Given the description of an element on the screen output the (x, y) to click on. 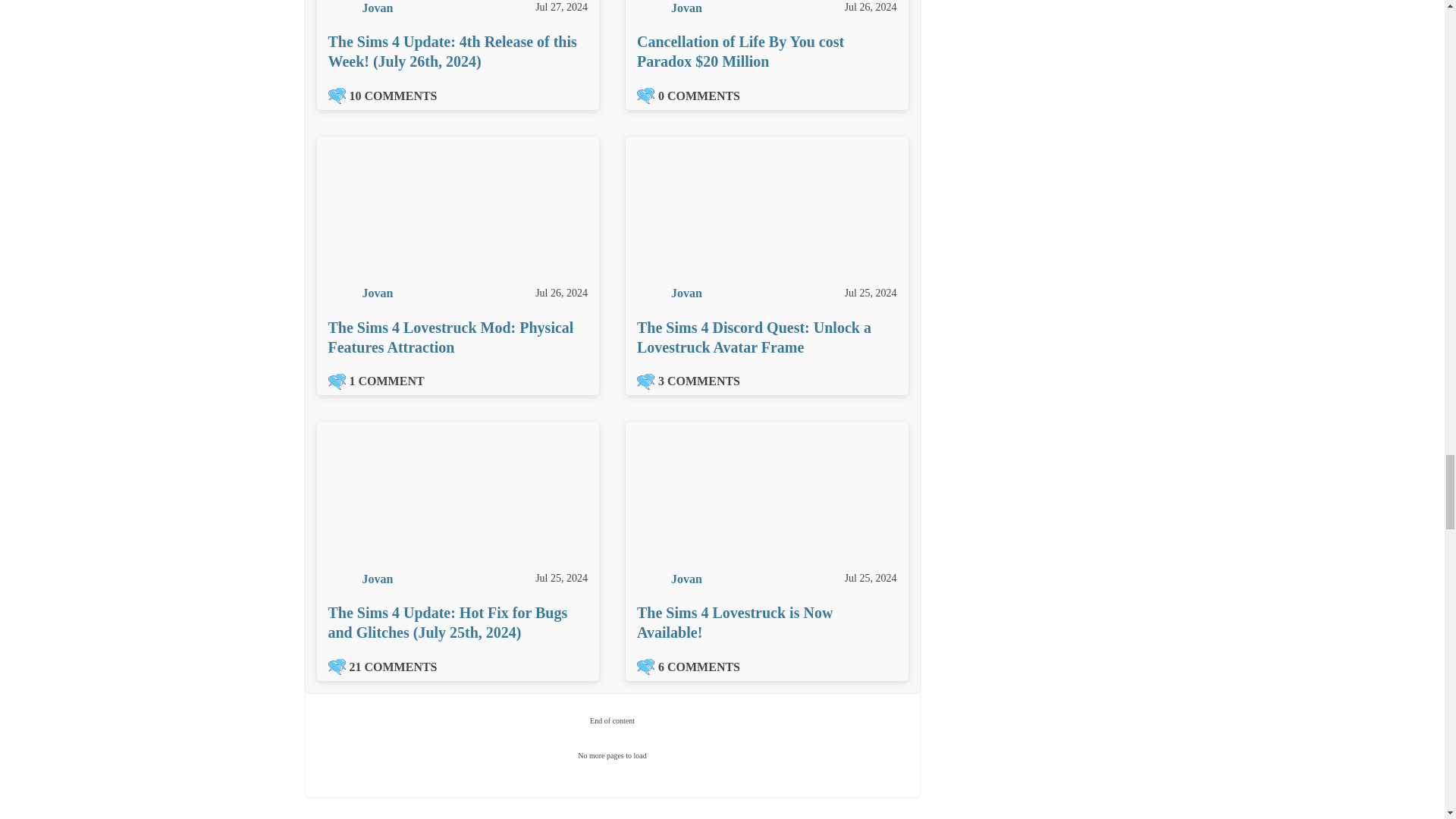
No more pages to load (612, 756)
